Given the description of an element on the screen output the (x, y) to click on. 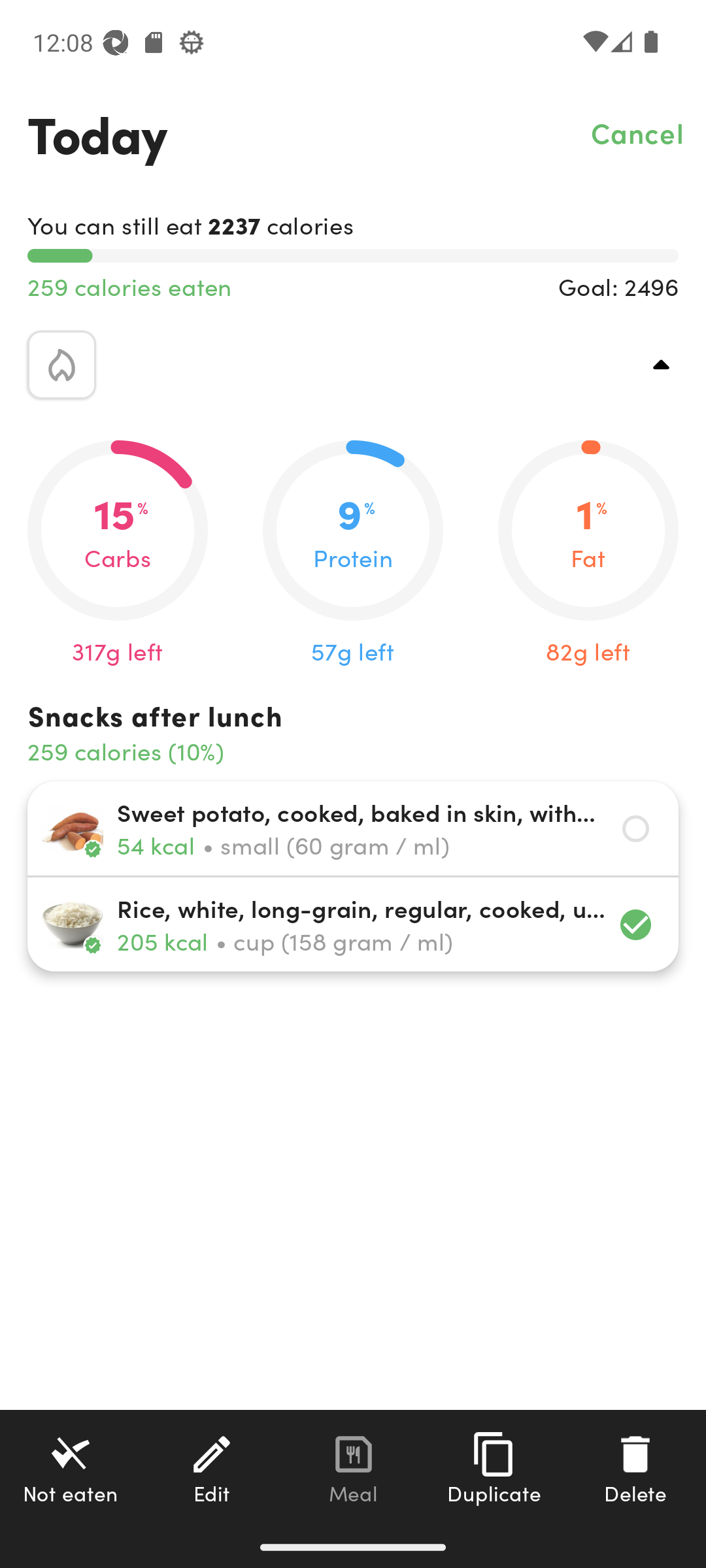
Cancel (637, 132)
calorie_icon (62, 365)
top_right_action (661, 365)
0.15 15 % Carbs 317g left (117, 553)
0.09 9 % Protein 57g left (352, 553)
0.01 1 % Fat 82g left (588, 553)
Not eaten (70, 1468)
Edit (211, 1468)
Meal (352, 1468)
Duplicate (493, 1468)
Delete (635, 1468)
